Given the description of an element on the screen output the (x, y) to click on. 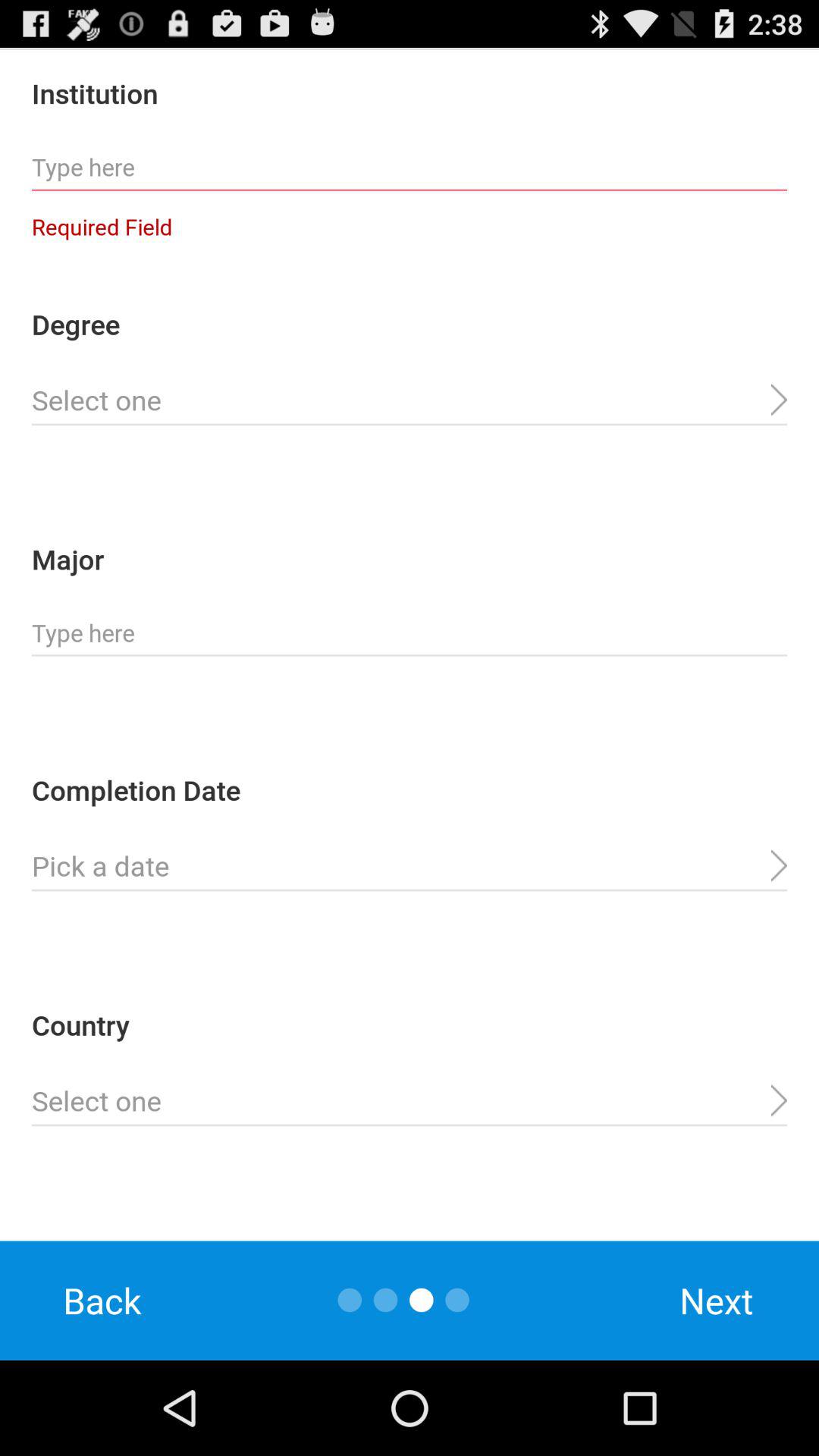
enter your major (409, 633)
